Given the description of an element on the screen output the (x, y) to click on. 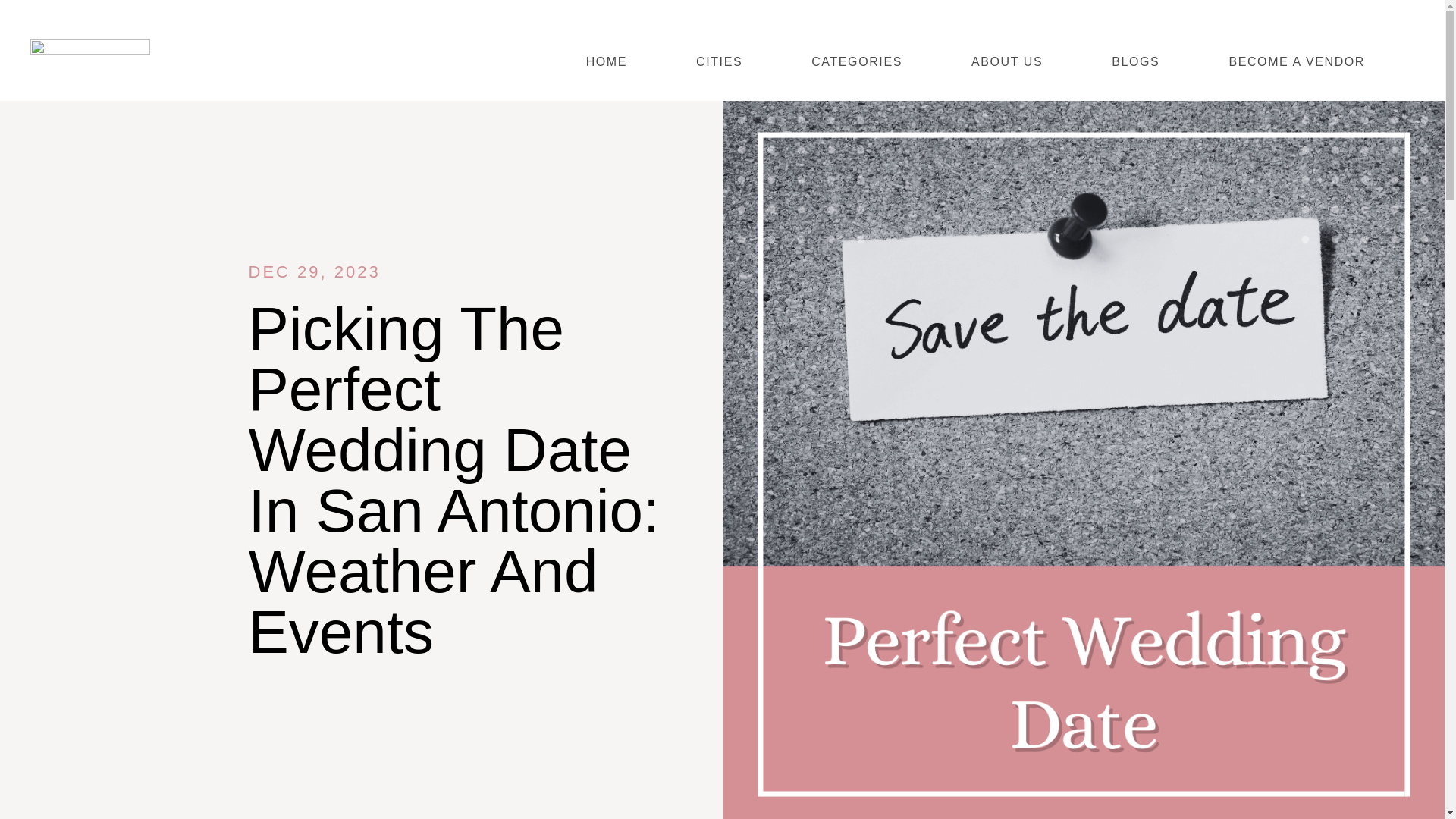
ABOUT US (1007, 60)
BECOME A VENDOR (1296, 60)
CATEGORIES (856, 60)
BLOGS (1135, 60)
CITIES (718, 60)
HOME (605, 60)
